Given the description of an element on the screen output the (x, y) to click on. 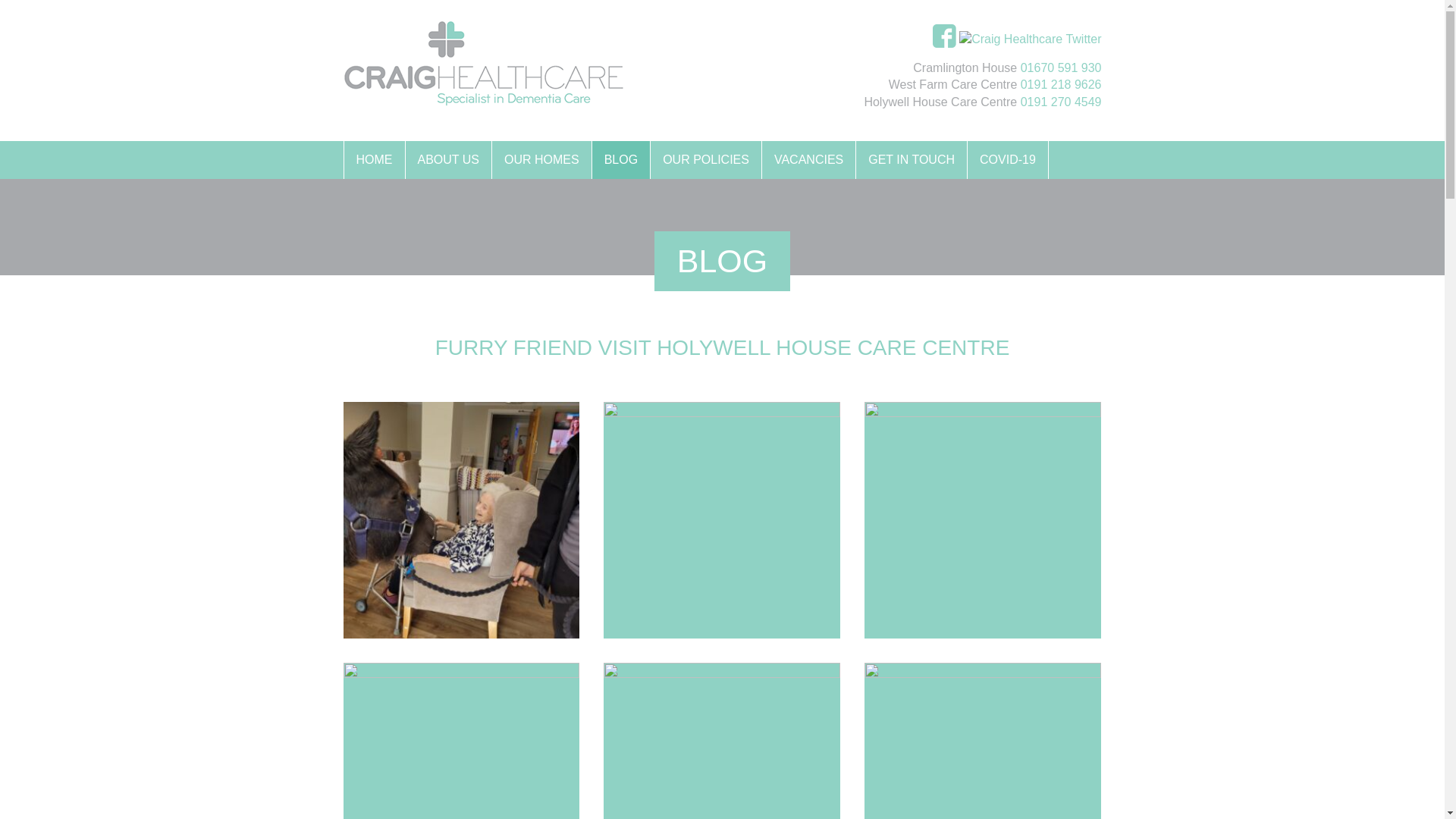
ABOUT US (448, 159)
OUR HOMES (541, 159)
GET IN TOUCH (911, 159)
VACANCIES (808, 159)
BLOG (620, 159)
HOME (373, 159)
COVID-19 (1007, 159)
OUR POLICIES (705, 159)
